Given the description of an element on the screen output the (x, y) to click on. 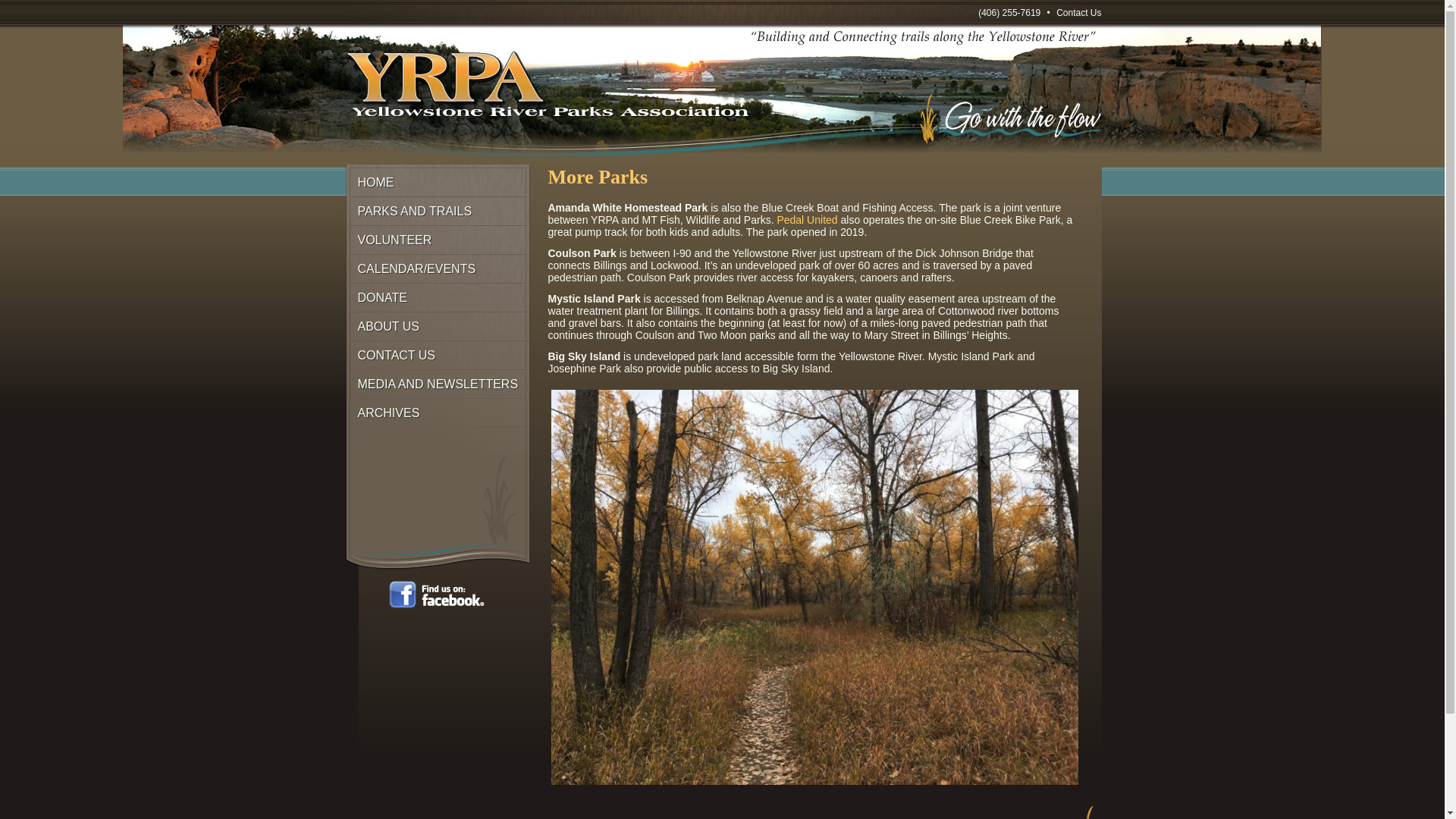
MEDIA AND NEWSLETTERS (440, 384)
ABOUT US (440, 326)
HOME (440, 182)
CONTACT US (440, 355)
DONATE (440, 297)
VOLUNTEER (440, 240)
Pedal United (806, 219)
Contact Us (1078, 12)
ARCHIVES (440, 412)
PARKS AND TRAILS (440, 211)
